Given the description of an element on the screen output the (x, y) to click on. 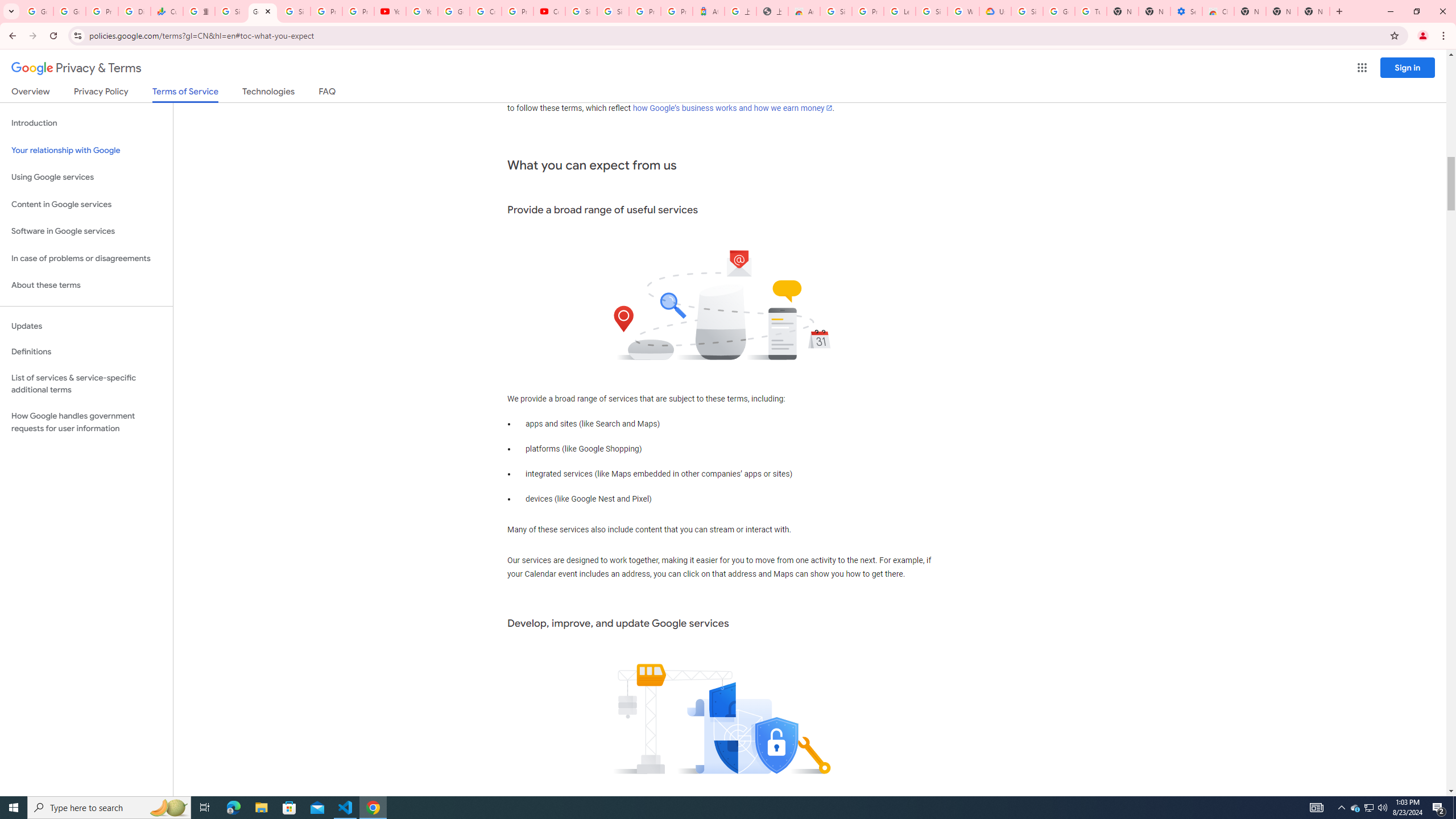
Content in Google services (86, 204)
Currencies - Google Finance (166, 11)
Settings - Accessibility (1185, 11)
